Given the description of an element on the screen output the (x, y) to click on. 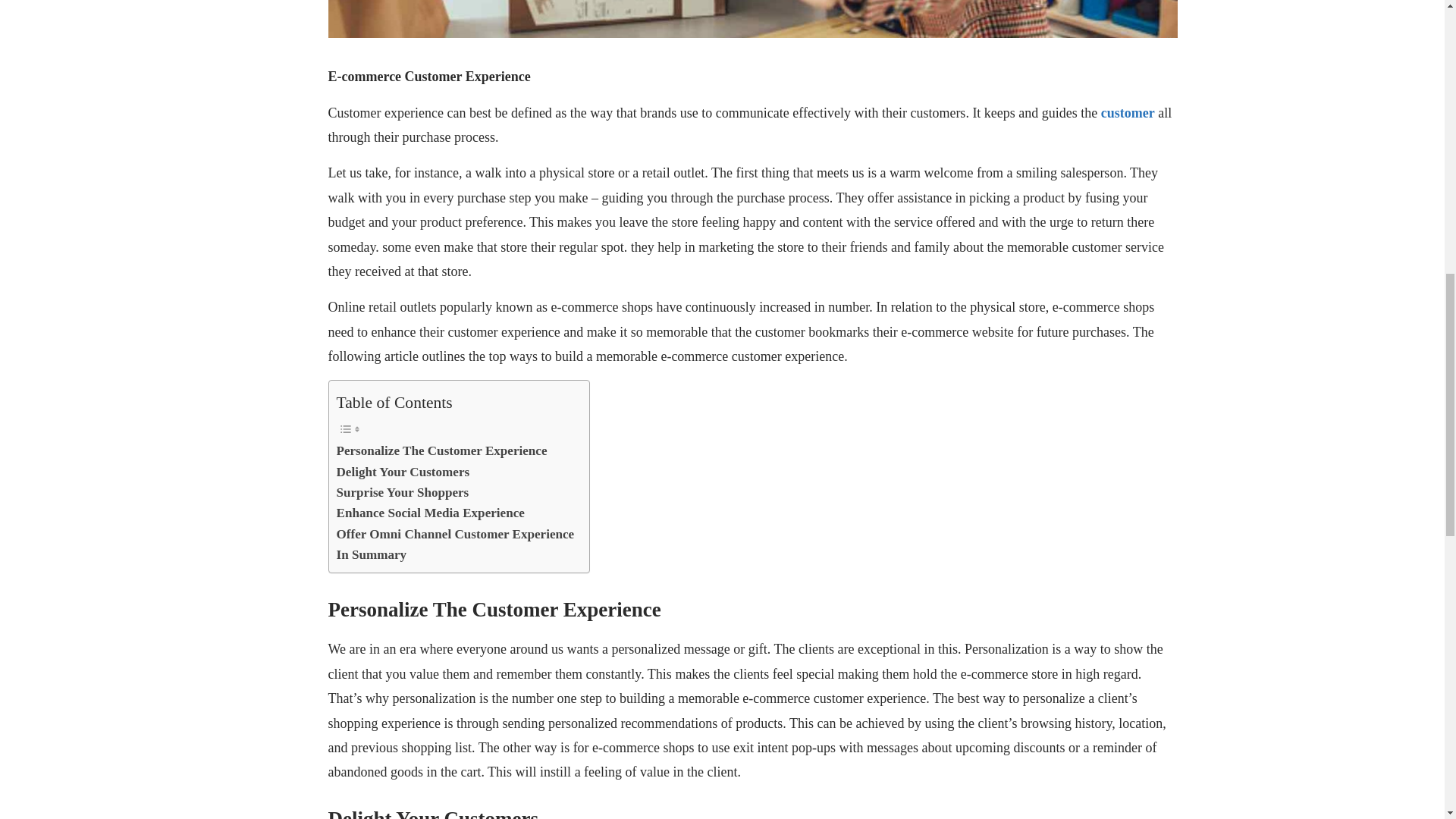
Surprise Your Shoppers (402, 492)
Personalize The Customer Experience (441, 450)
Enhance Social Media Experience (430, 512)
Offer Omni Channel Customer Experience (455, 534)
In Summary (371, 554)
Delight Your Customers (403, 471)
